Given the description of an element on the screen output the (x, y) to click on. 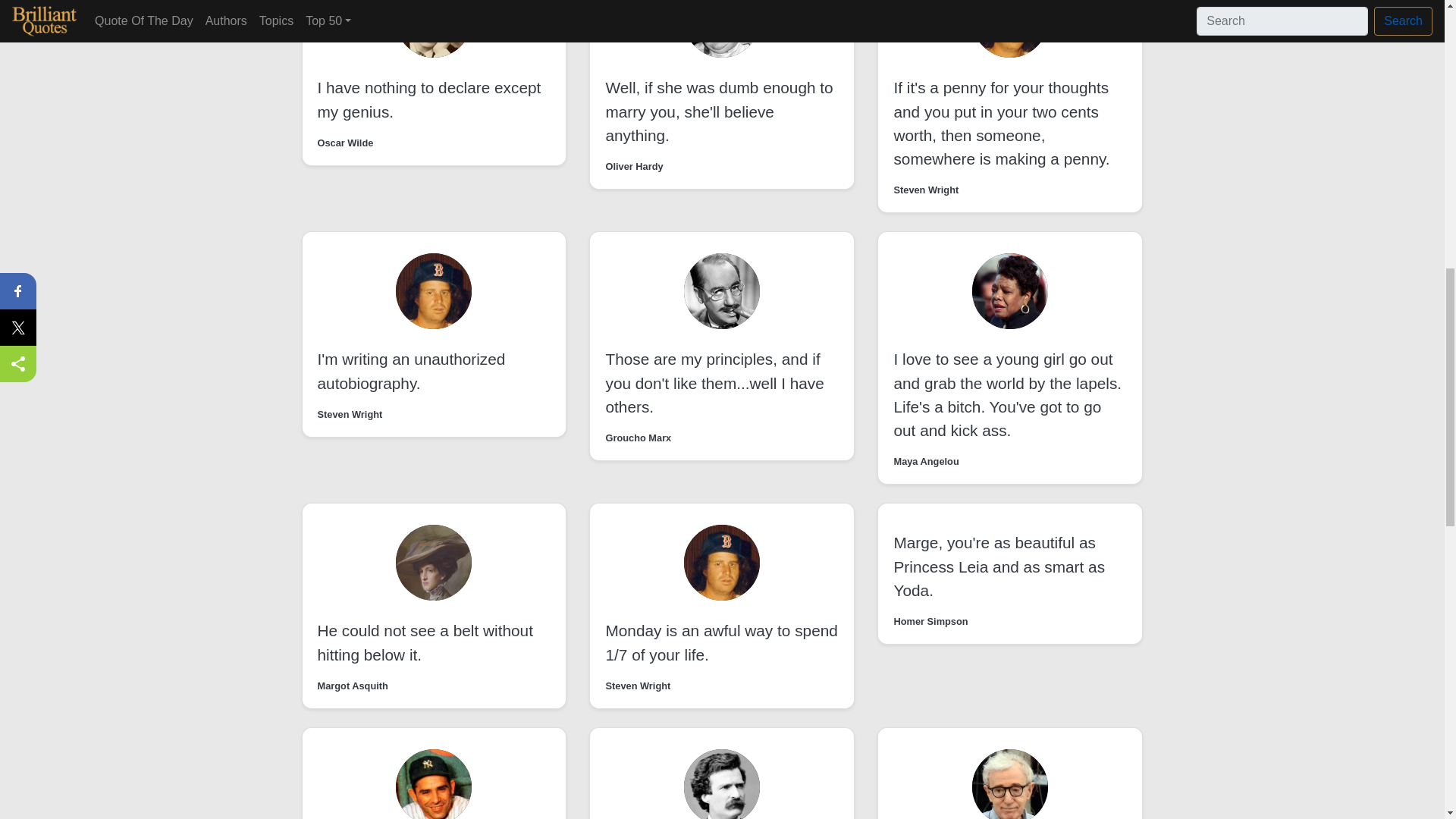
Oliver Hardy (633, 165)
Maya Angelou (925, 461)
Margot Asquith (352, 685)
Steven Wright (925, 189)
I have nothing to declare except my genius. (428, 98)
Oscar Wilde (344, 142)
Groucho Marx (638, 437)
